Given the description of an element on the screen output the (x, y) to click on. 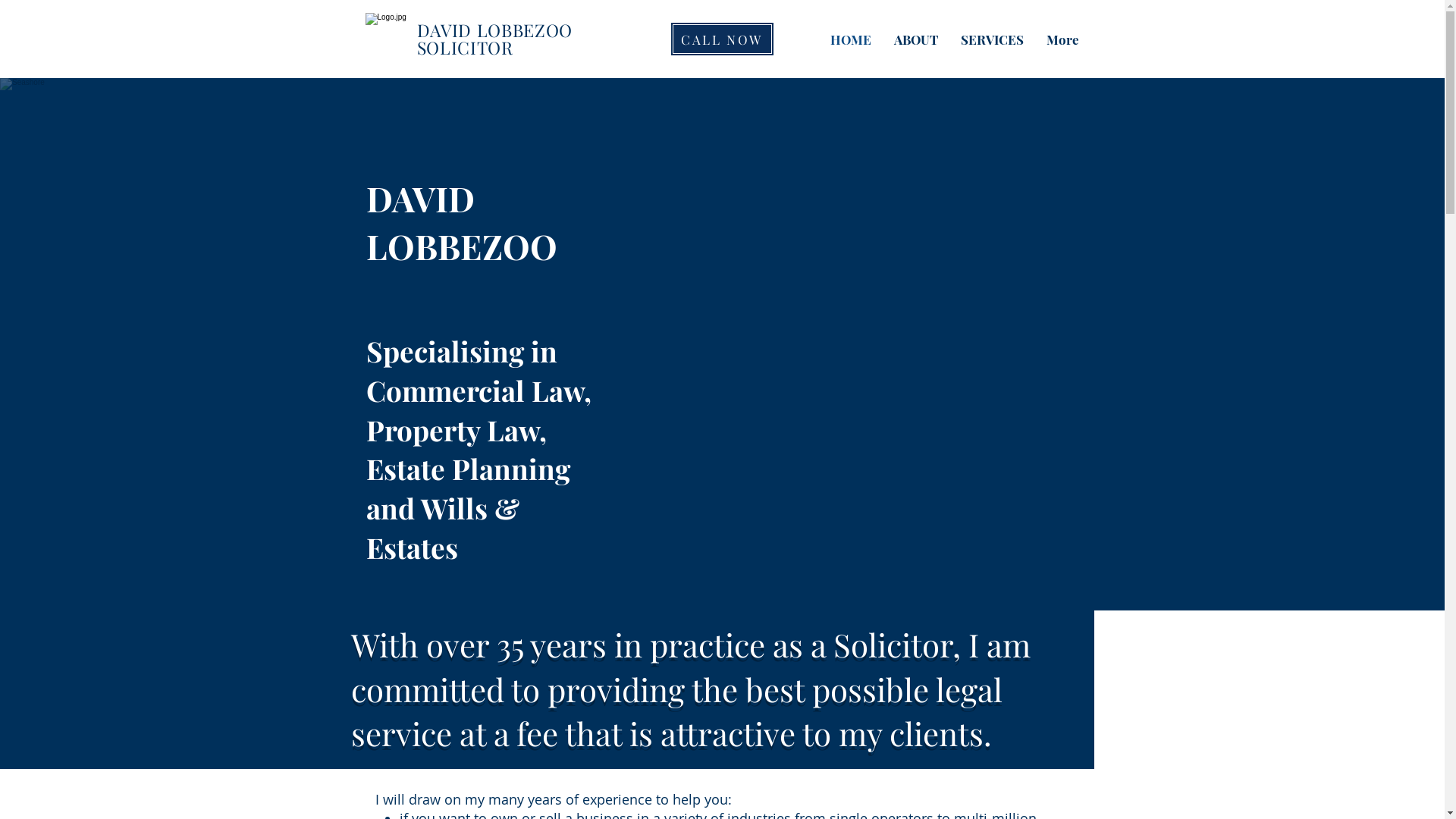
HOME Element type: text (850, 39)
SERVICES Element type: text (992, 39)
CALL NOW Element type: text (722, 38)
ABOUT Element type: text (915, 39)
DAVID LOBBEZOO  Element type: text (497, 29)
